Given the description of an element on the screen output the (x, y) to click on. 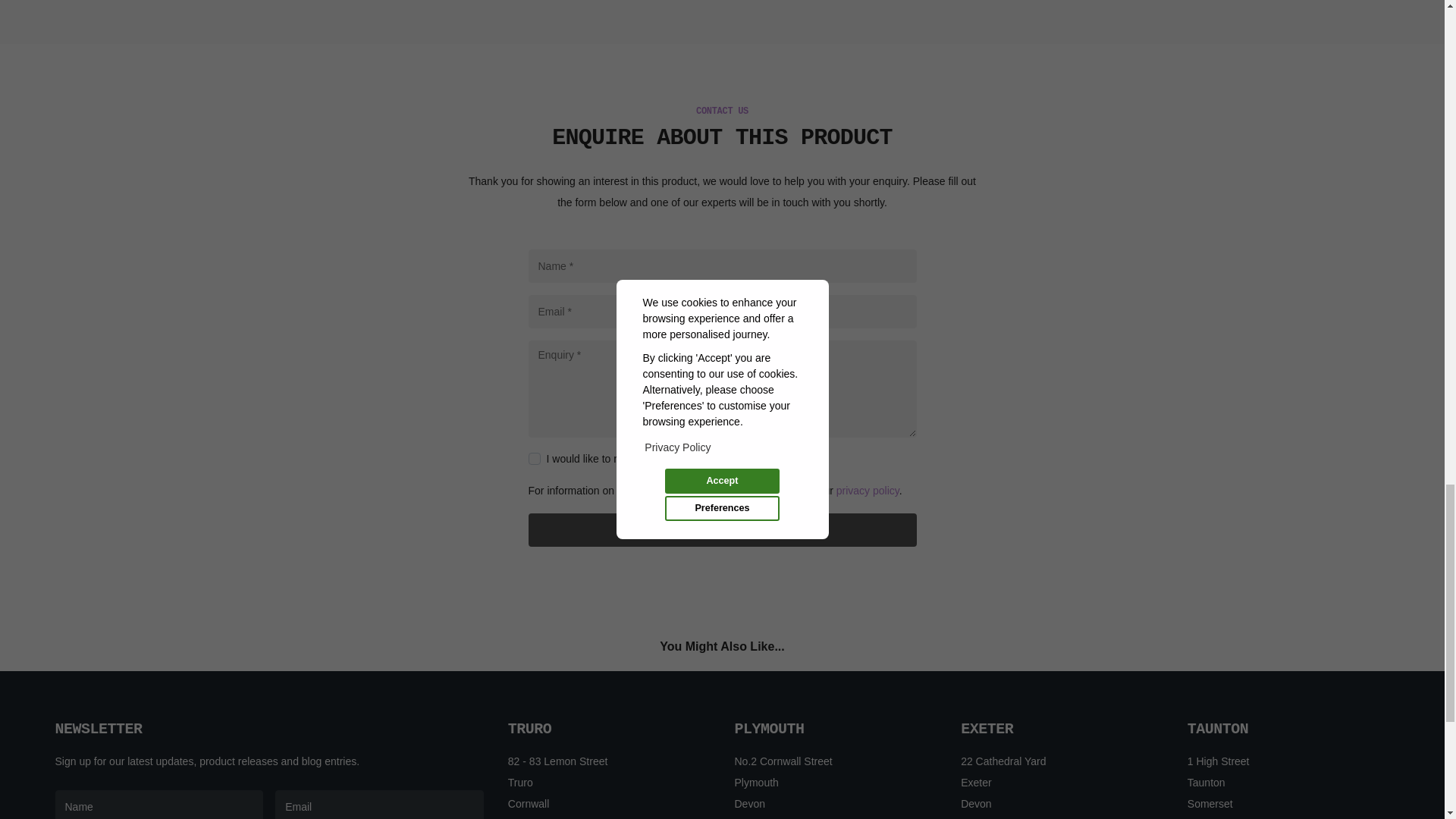
on (533, 458)
SUBMIT ENQUIRY (721, 530)
privacy policy (867, 490)
